Given the description of an element on the screen output the (x, y) to click on. 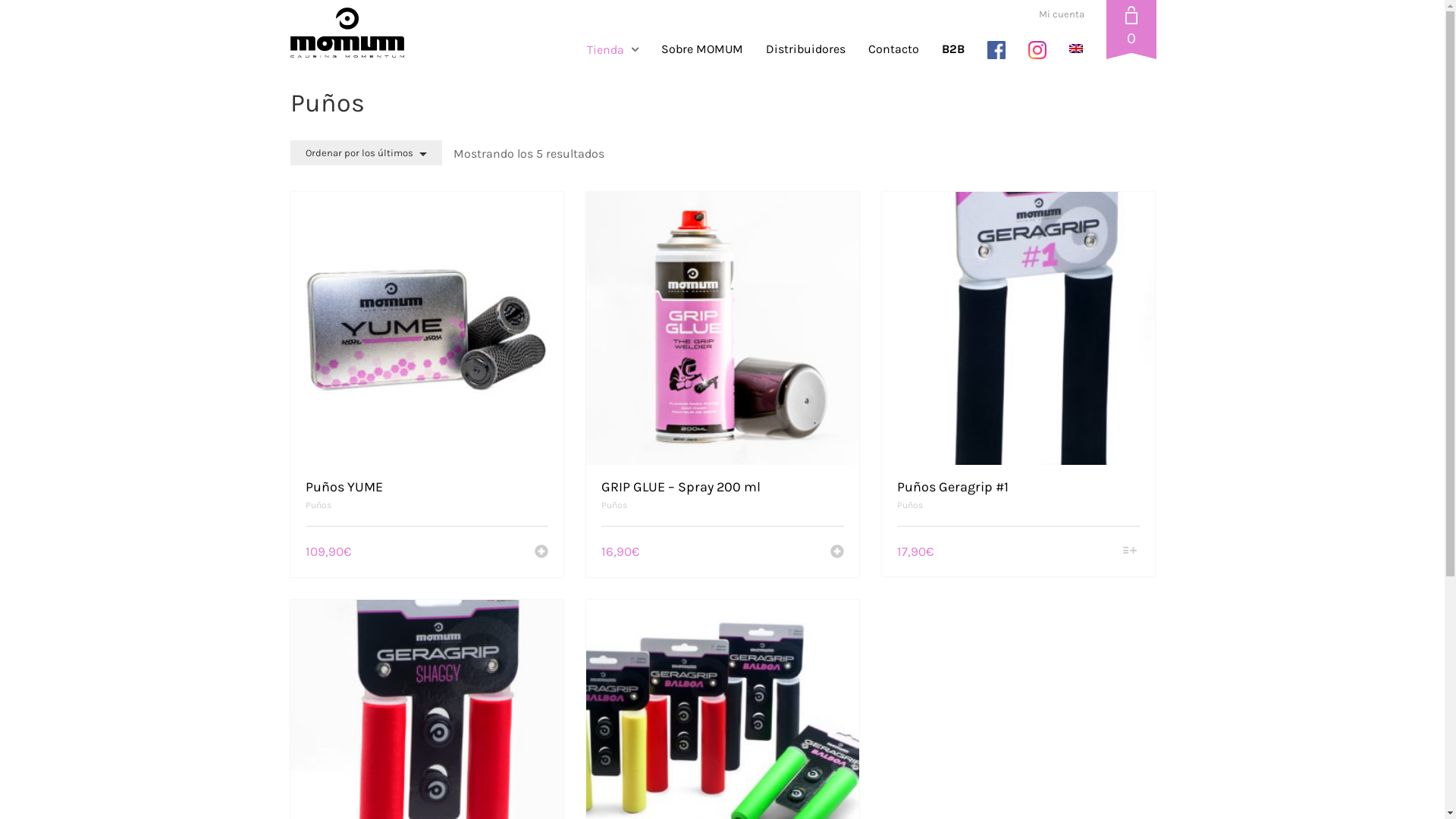
Contacto Element type: text (893, 49)
B2B Element type: text (952, 49)
Sobre MOMUM Element type: text (701, 49)
Mi cuenta Element type: text (1061, 13)
Distribuidores Element type: text (804, 49)
0 Element type: text (1130, 31)
Tienda Element type: text (617, 49)
